Given the description of an element on the screen output the (x, y) to click on. 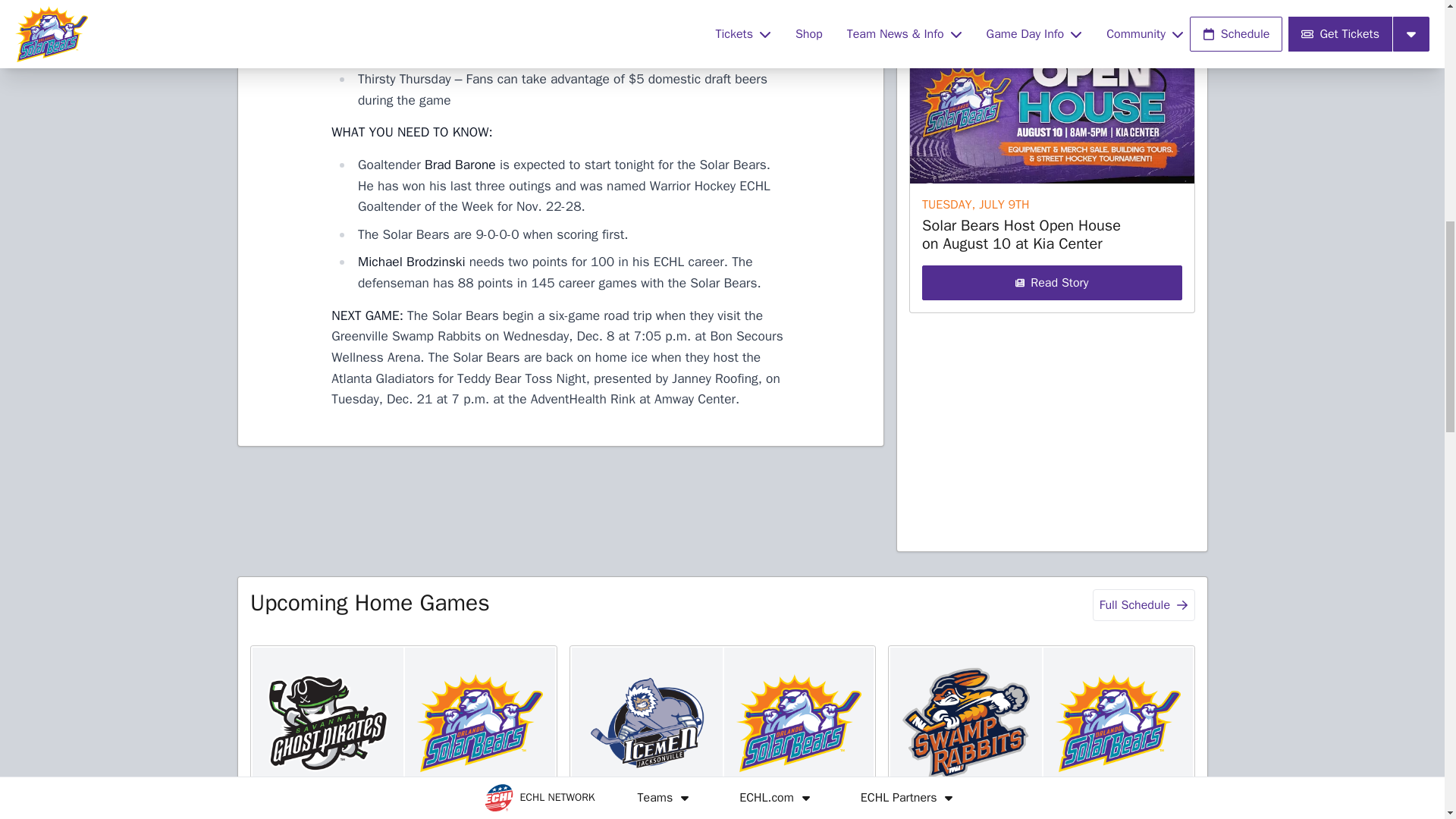
3rd party ad content (560, 517)
3rd party ad content (1051, 298)
